Given the description of an element on the screen output the (x, y) to click on. 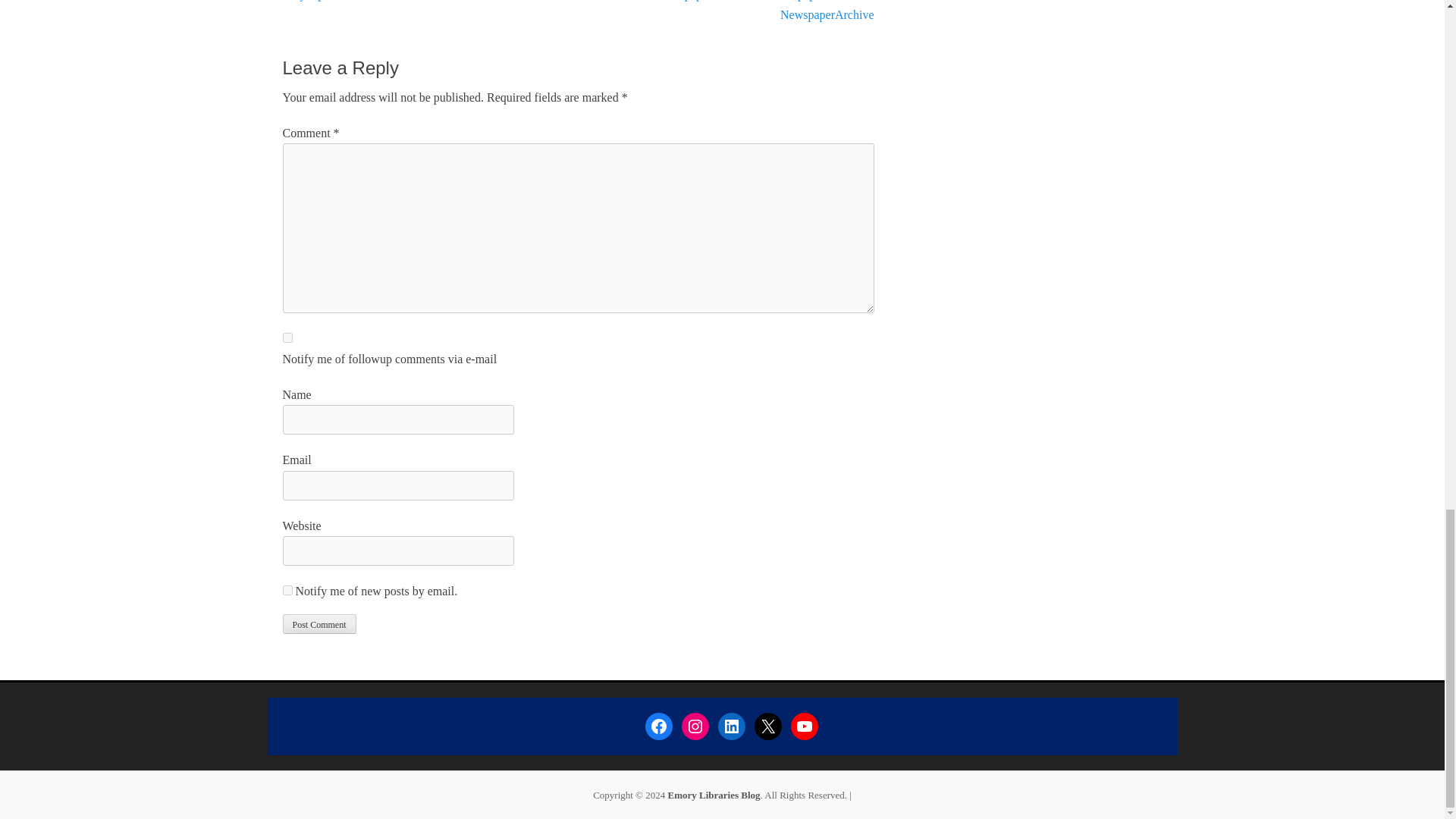
Post Comment (318, 623)
LinkedIn (730, 725)
Facebook (658, 725)
Post Comment (318, 623)
subscribe (287, 337)
Emory Libraries Blog (713, 794)
subscribe (287, 590)
X (767, 725)
YouTube (803, 725)
Instagram (694, 725)
